Given the description of an element on the screen output the (x, y) to click on. 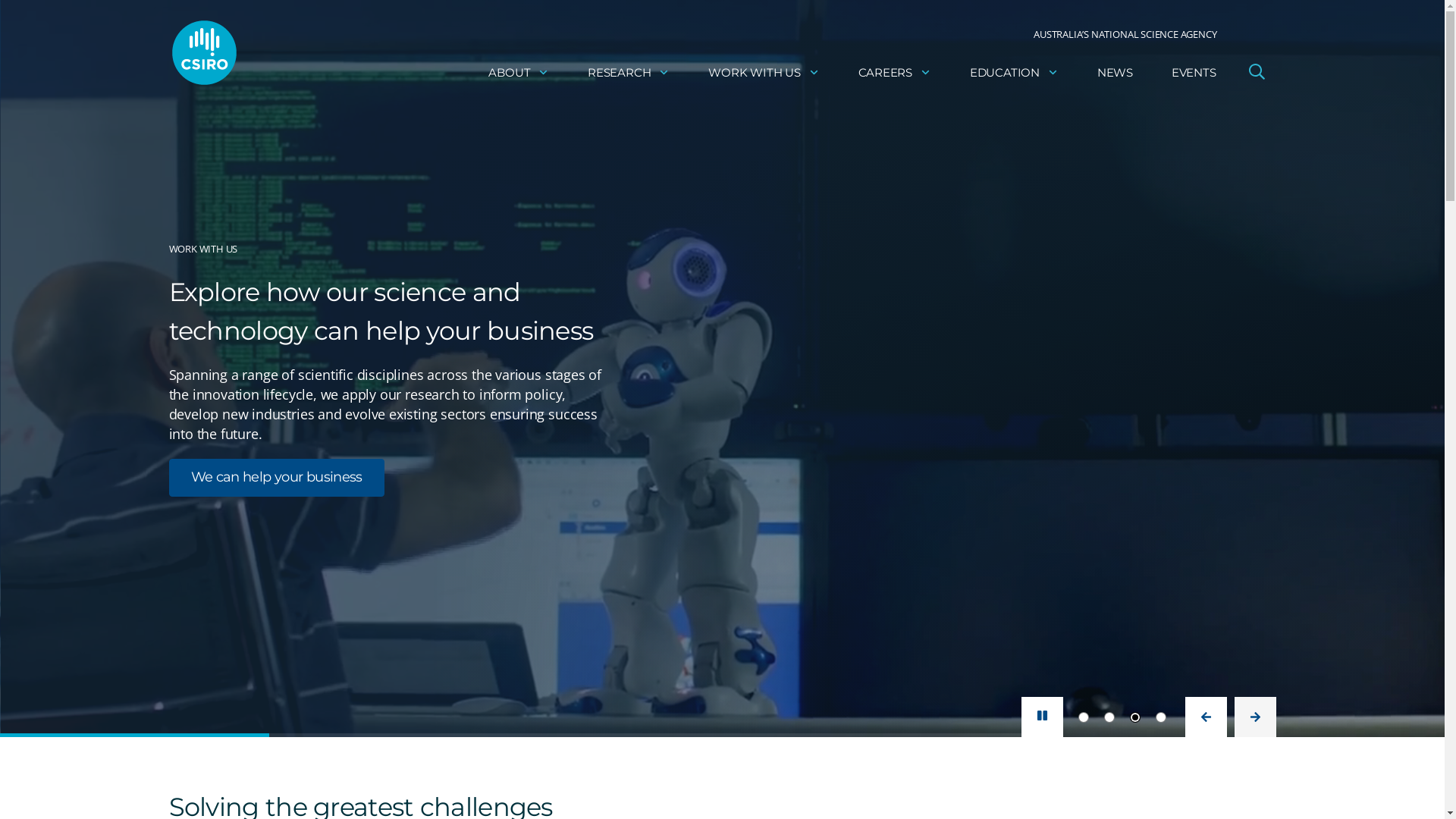
EDUCATION Element type: text (1013, 72)
RESEARCH Element type: text (628, 72)
CAREERS Element type: text (894, 72)
ABOUT Element type: text (518, 72)
WORK WITH US Element type: text (763, 72)
NEWS Element type: text (1114, 72)
EVENTS Element type: text (1193, 72)
Dive in Element type: text (212, 439)
